Given the description of an element on the screen output the (x, y) to click on. 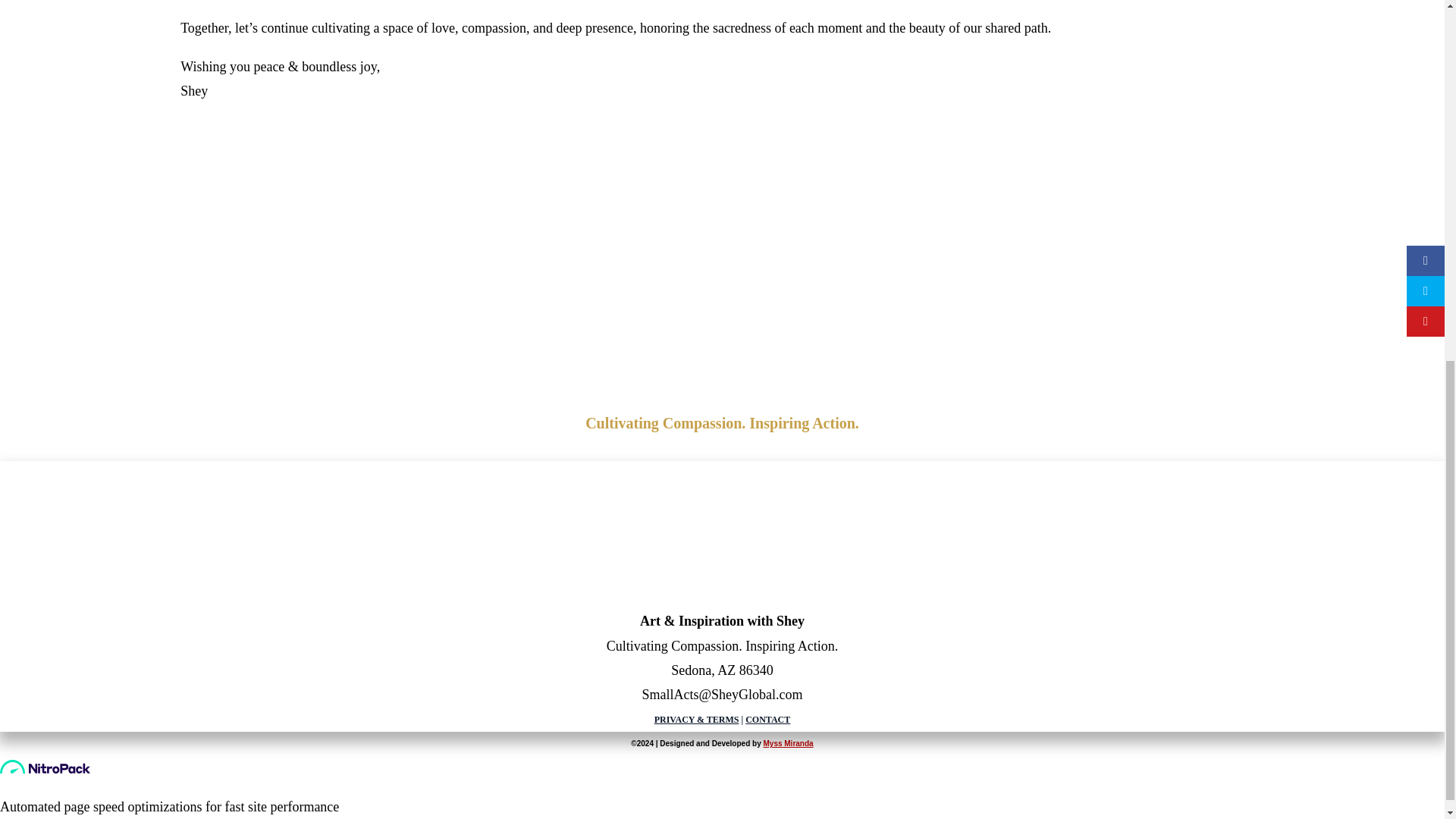
CONTACT (767, 719)
Myss Miranda (787, 743)
